Given the description of an element on the screen output the (x, y) to click on. 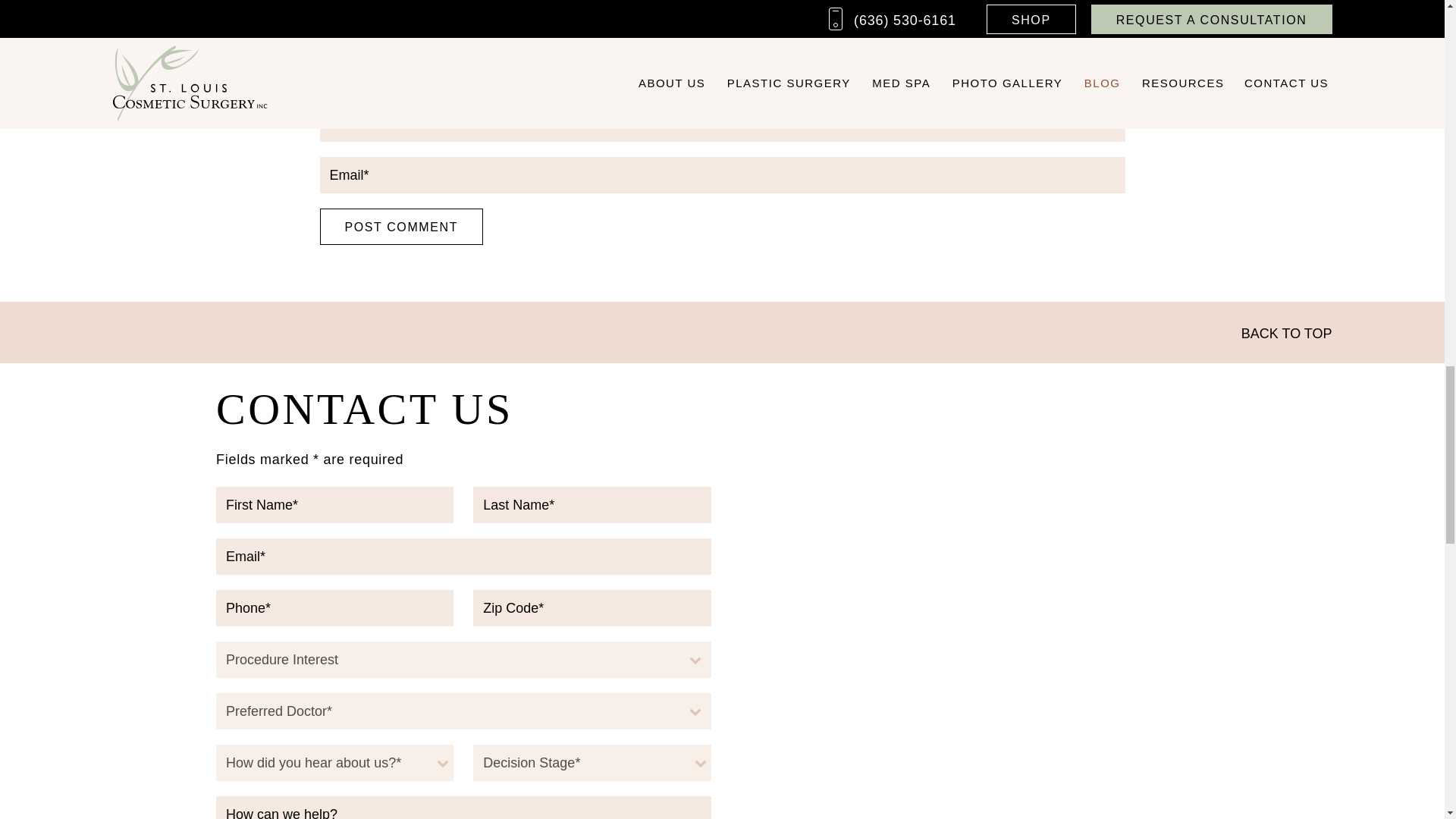
Post Comment (401, 226)
